Given the description of an element on the screen output the (x, y) to click on. 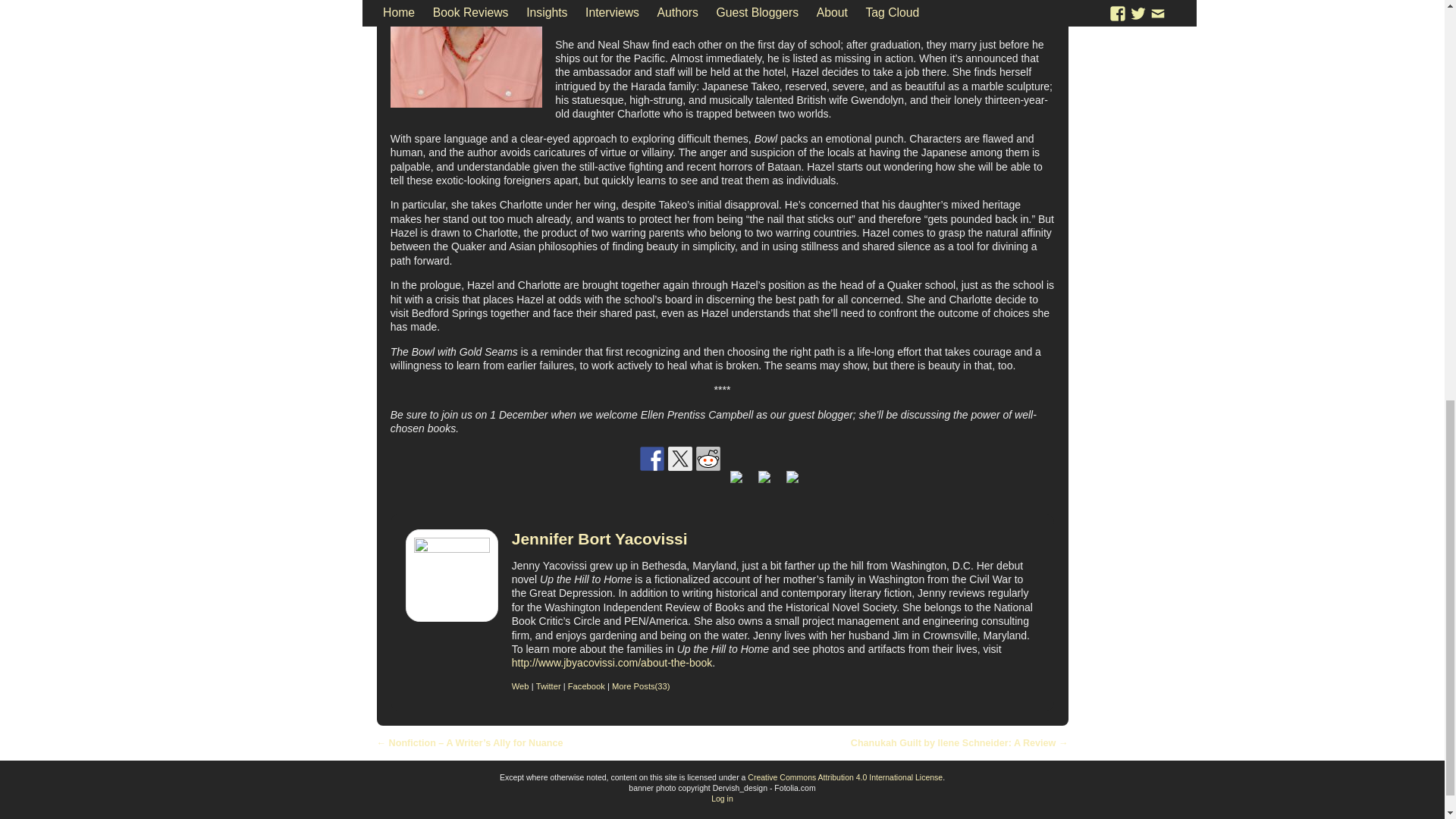
Facebook (586, 686)
Share on Reddit (707, 458)
Share by email (791, 476)
Jennifer Bort Yacovissi (599, 538)
Share by email (792, 482)
Web (520, 686)
Pin it with Pinterest (736, 476)
Share on Facebook (651, 458)
Share on Linkedin (764, 476)
Pin it with Pinterest (735, 482)
